Given the description of an element on the screen output the (x, y) to click on. 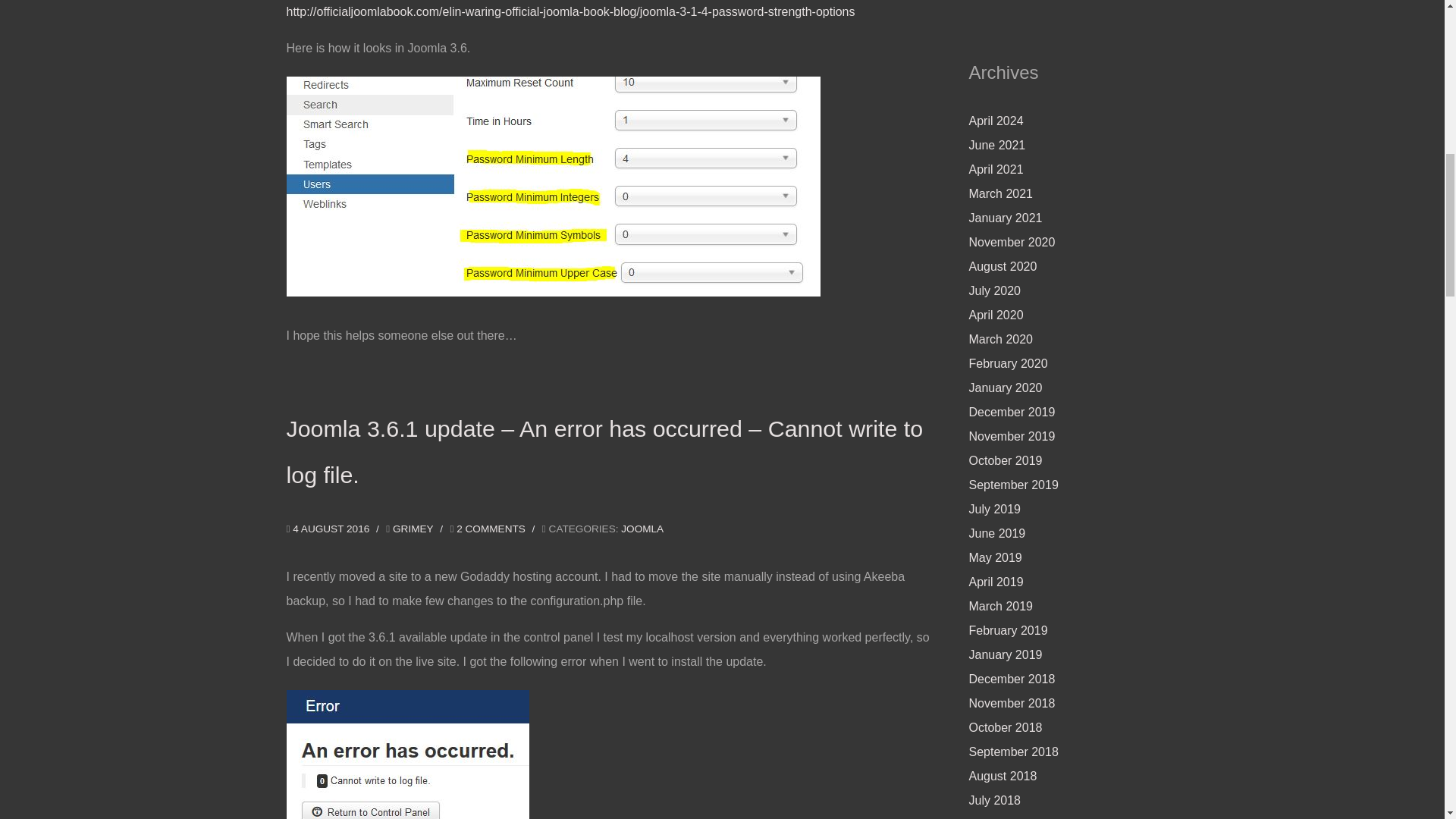
4 AUGUST 2016 (332, 528)
2 COMMENTS (491, 528)
2 (491, 528)
Grimey (412, 528)
JOOMLA (642, 528)
GRIMEY (412, 528)
Joomla (642, 528)
